Given the description of an element on the screen output the (x, y) to click on. 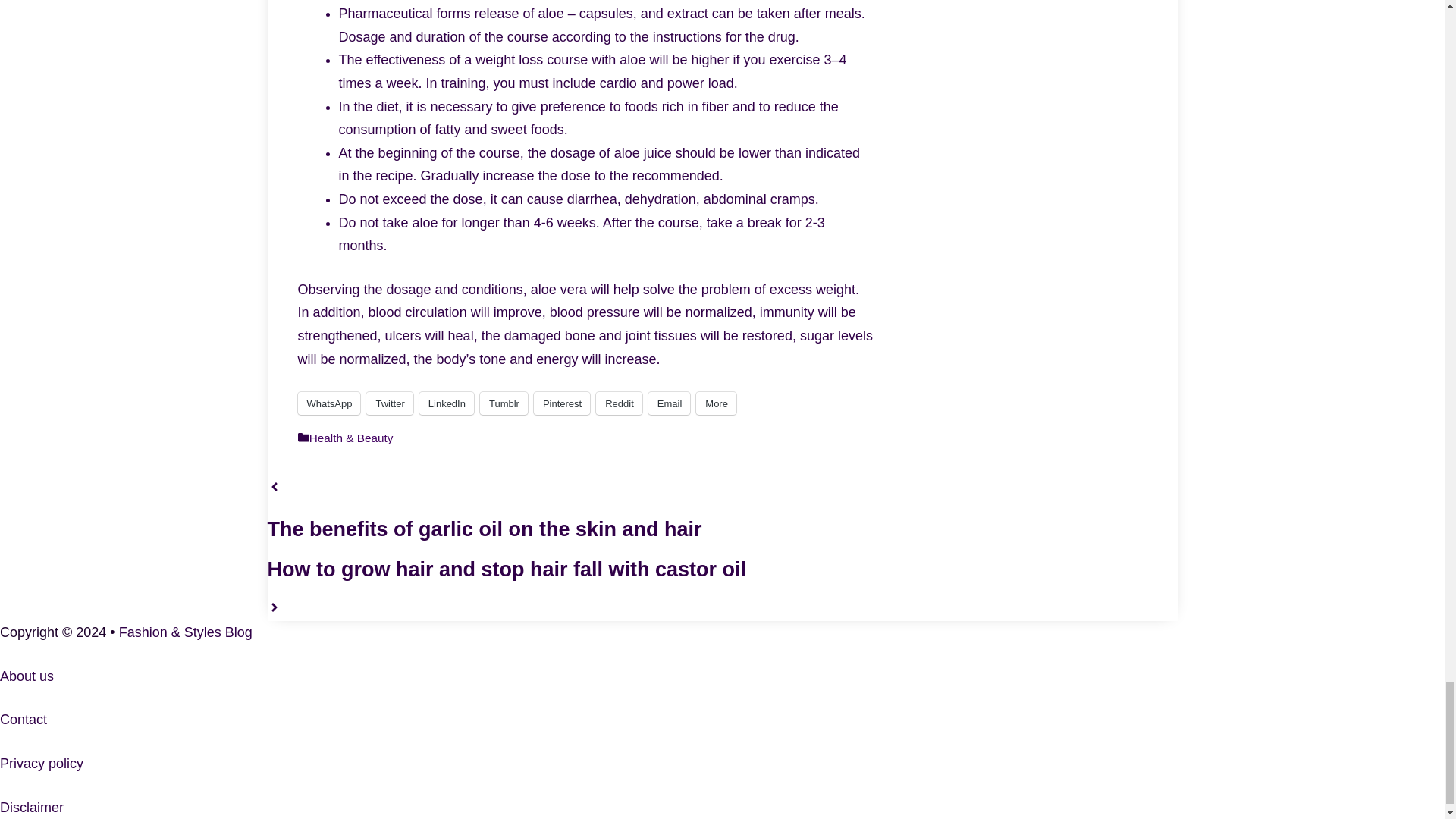
Click to share on Pinterest (561, 403)
Click to share on Reddit (618, 403)
Click to share on LinkedIn (446, 403)
Click to share on WhatsApp (328, 403)
Click to email a link to a friend (668, 403)
Click to share on Twitter (389, 403)
Click to share on Tumblr (503, 403)
